Given the description of an element on the screen output the (x, y) to click on. 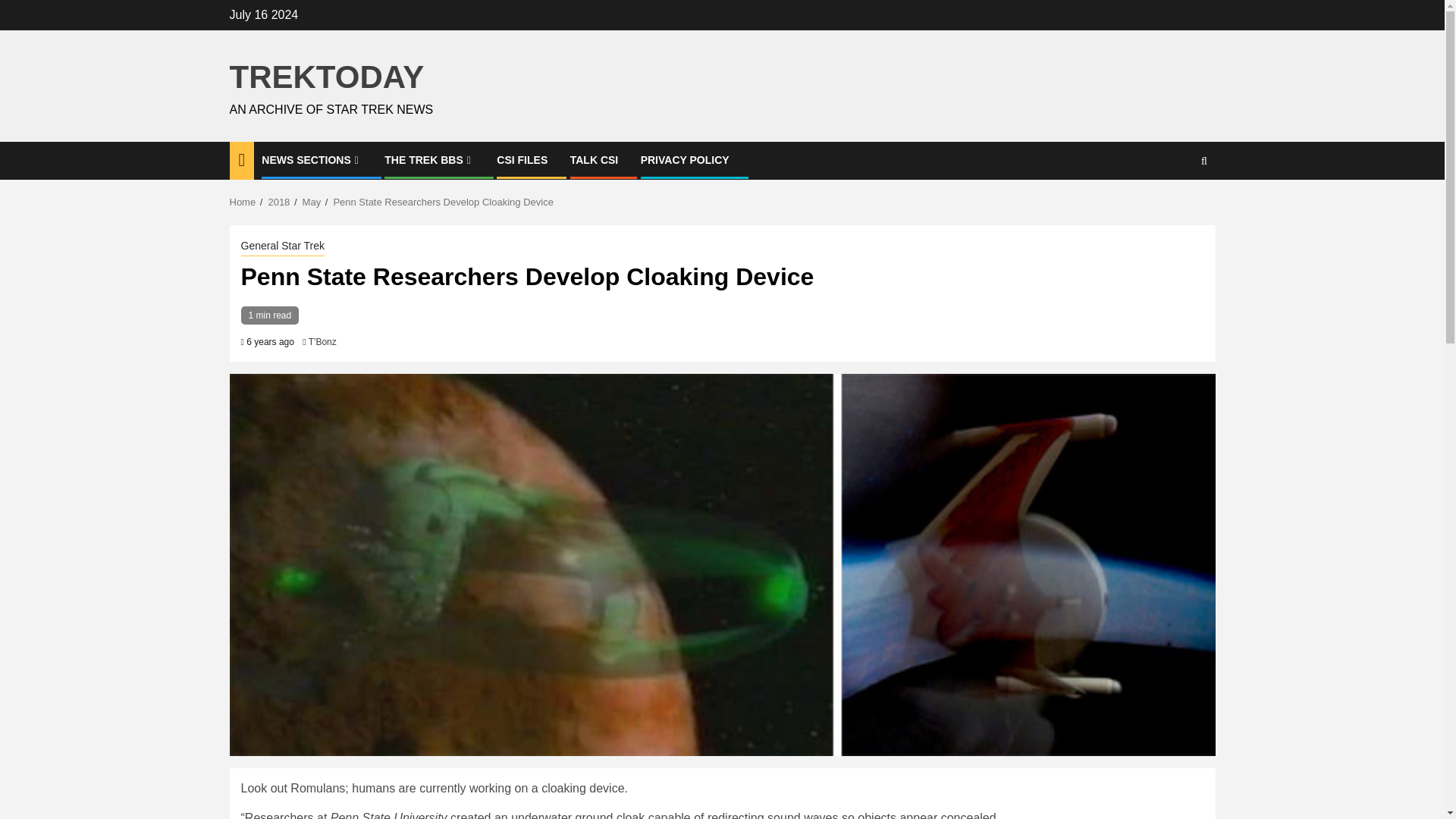
T'Bonz (322, 341)
TALK CSI (594, 159)
TREKTODAY (325, 76)
Search (1174, 206)
THE TREK BBS (429, 159)
NEWS SECTIONS (312, 159)
Penn State Researchers Develop Cloaking Device (443, 202)
General Star Trek (282, 247)
May (311, 202)
2018 (278, 202)
PRIVACY POLICY (684, 159)
CSI FILES (521, 159)
Home (242, 202)
